Given the description of an element on the screen output the (x, y) to click on. 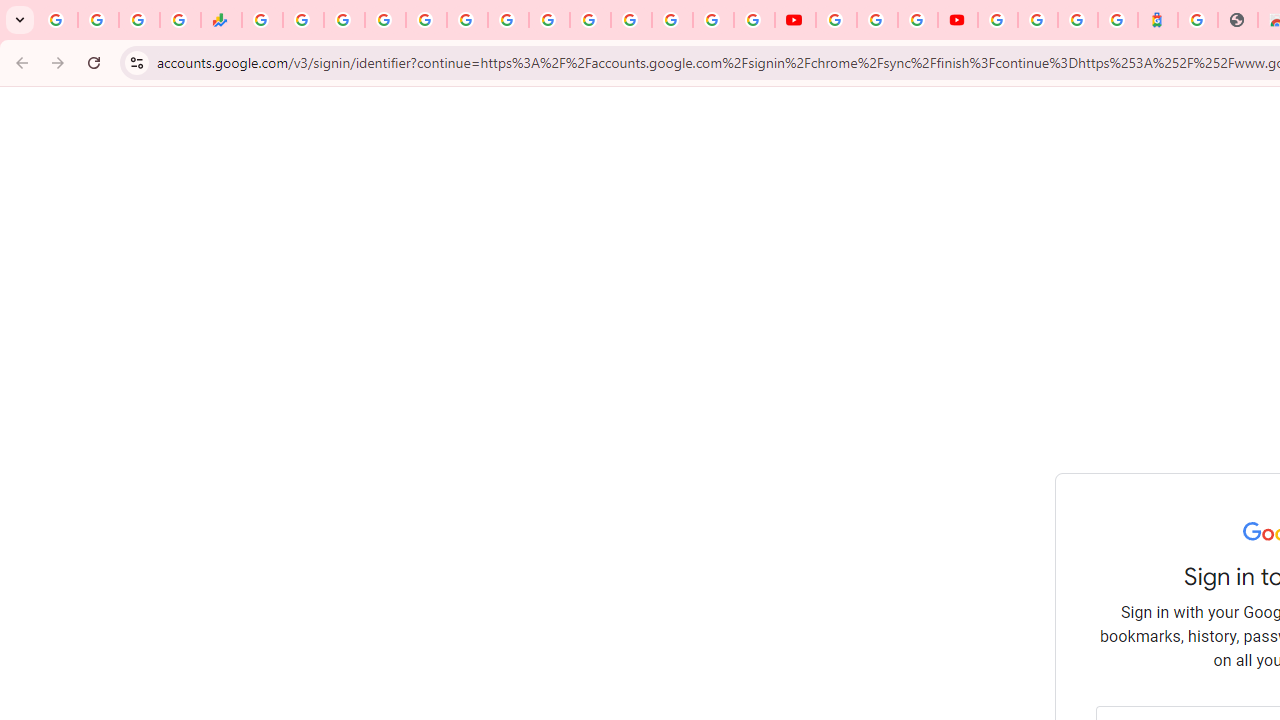
Google Account Help (877, 20)
Atour Hotel - Google hotels (1157, 20)
Sign in - Google Accounts (671, 20)
YouTube (836, 20)
Sign in - Google Accounts (384, 20)
